Given the description of an element on the screen output the (x, y) to click on. 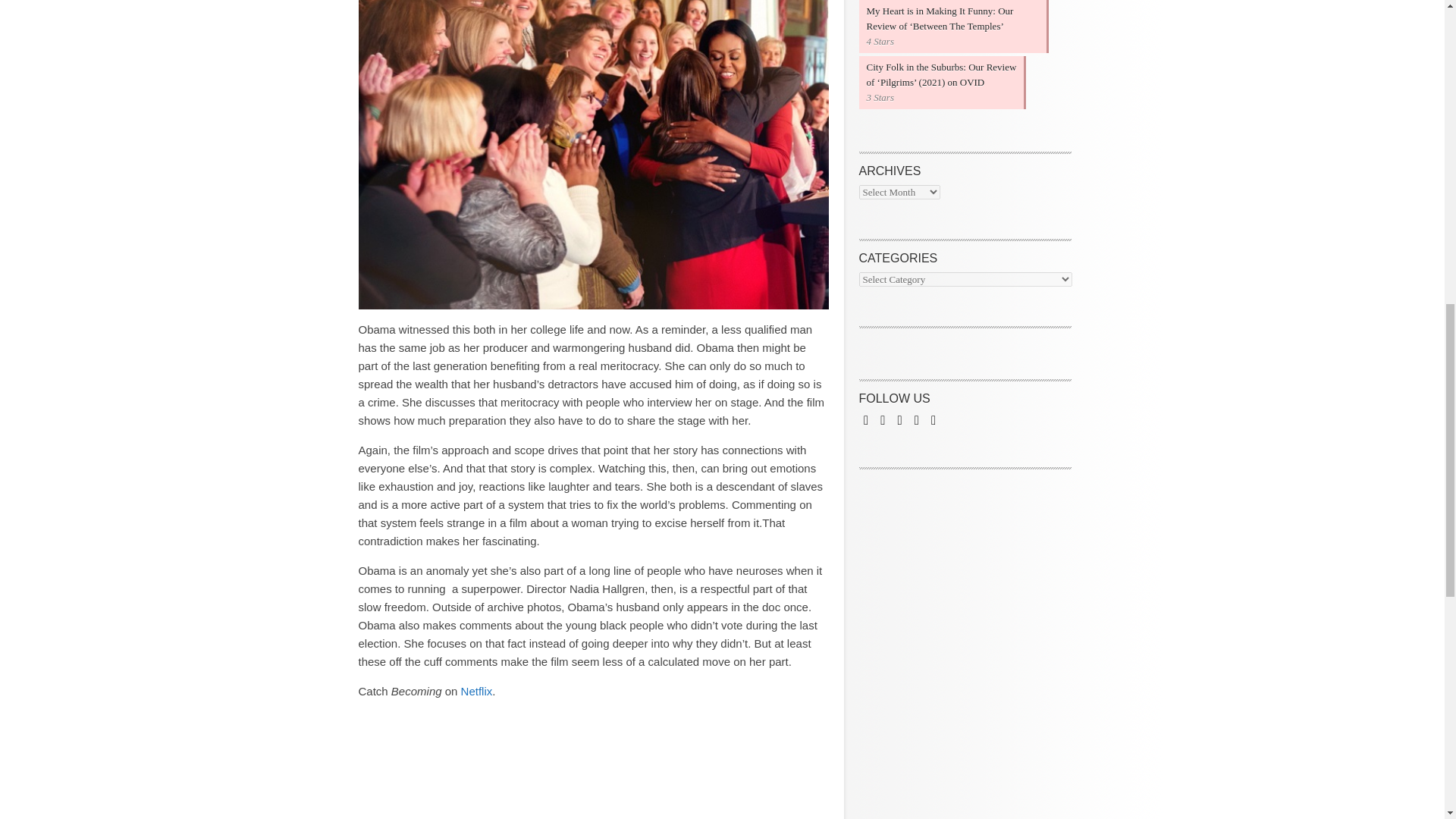
Letterboxd (915, 419)
Instagram (899, 419)
Netflix (477, 690)
Facebook (865, 419)
Twitter (882, 419)
